Given the description of an element on the screen output the (x, y) to click on. 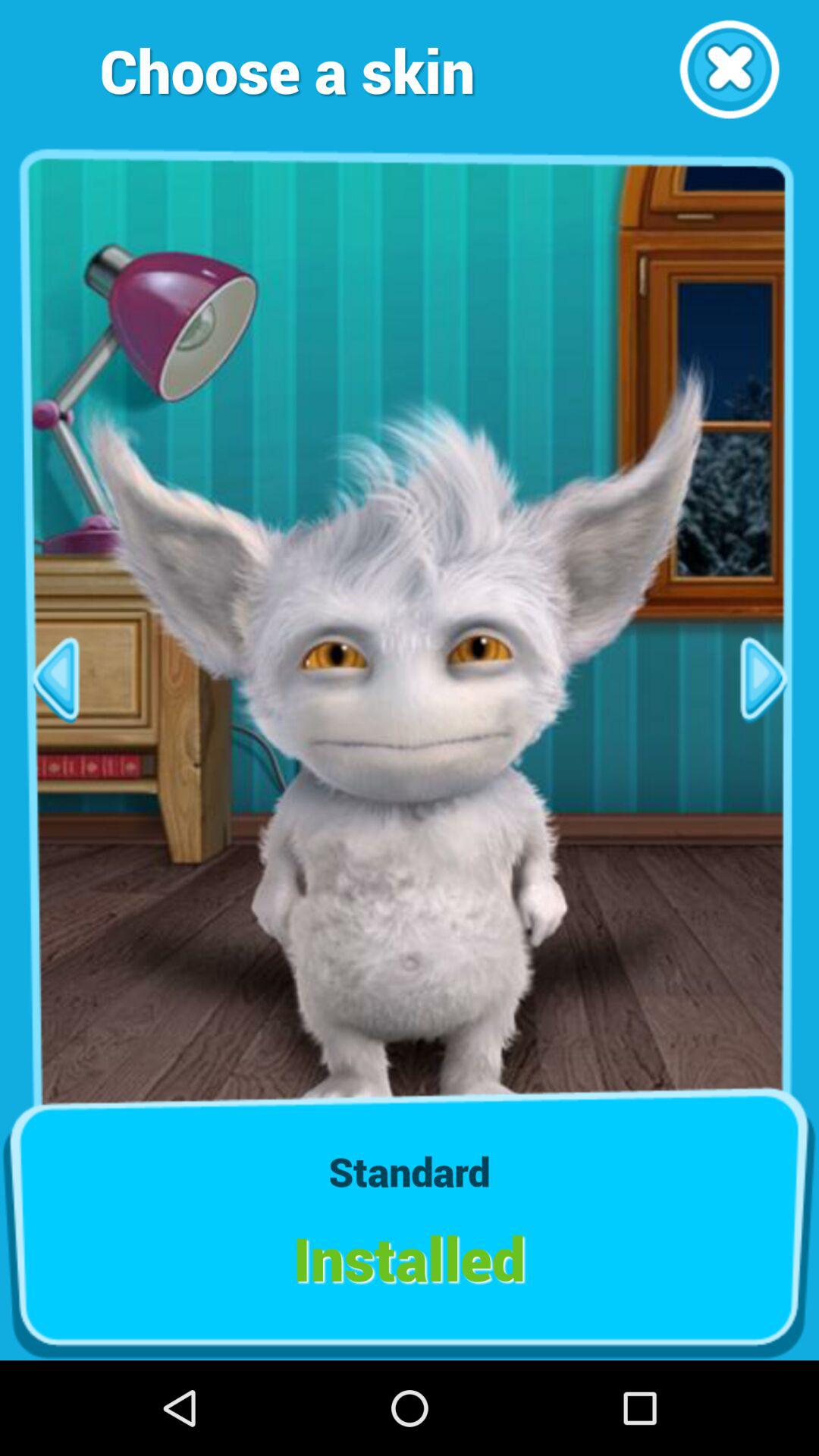
next bage (55, 679)
